Given the description of an element on the screen output the (x, y) to click on. 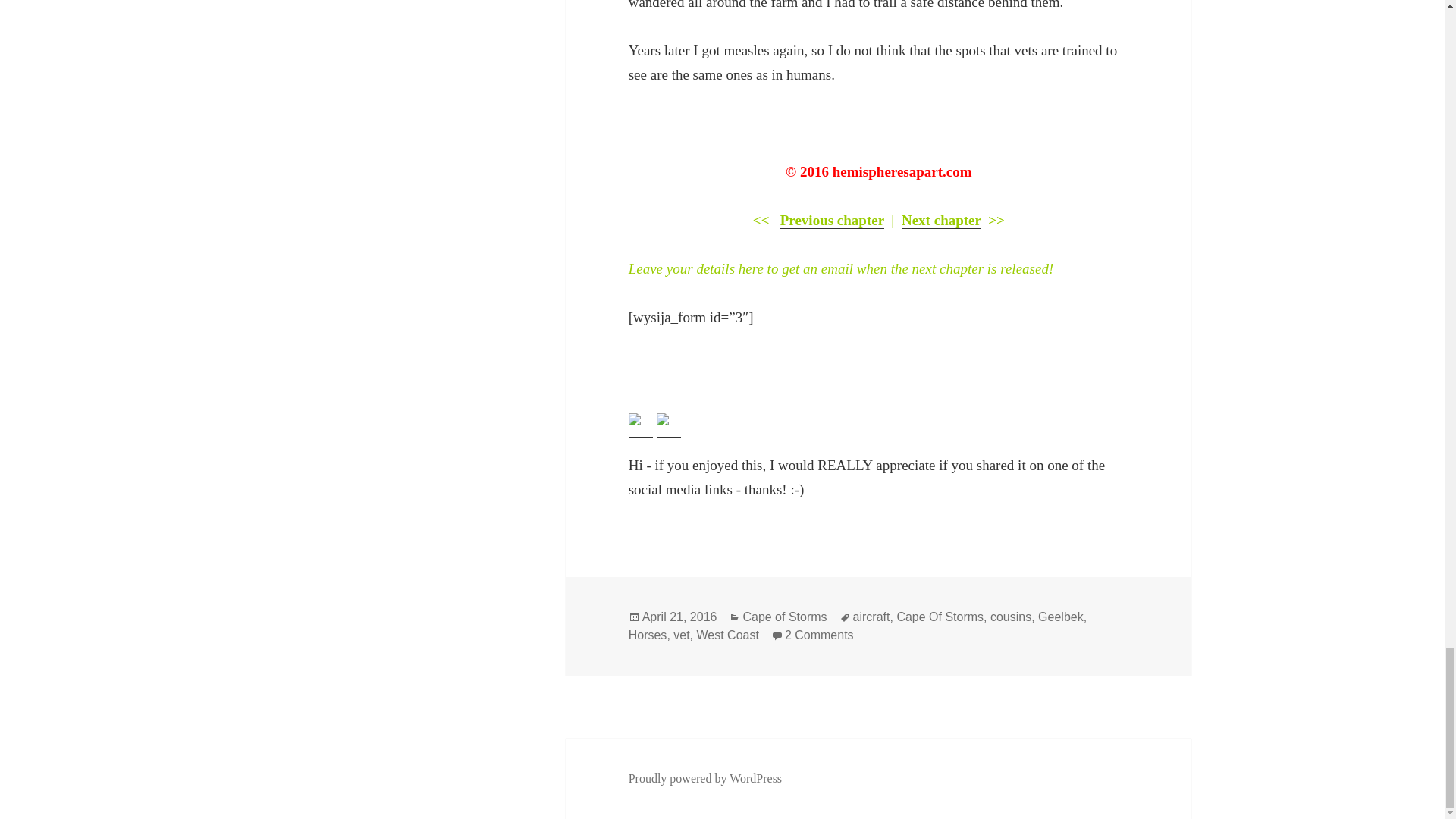
Follow the writer on Twitter (634, 419)
Follow the writer on Twitter (640, 425)
Contact the writer ... (668, 425)
Contact the writer ... (662, 419)
